Given the description of an element on the screen output the (x, y) to click on. 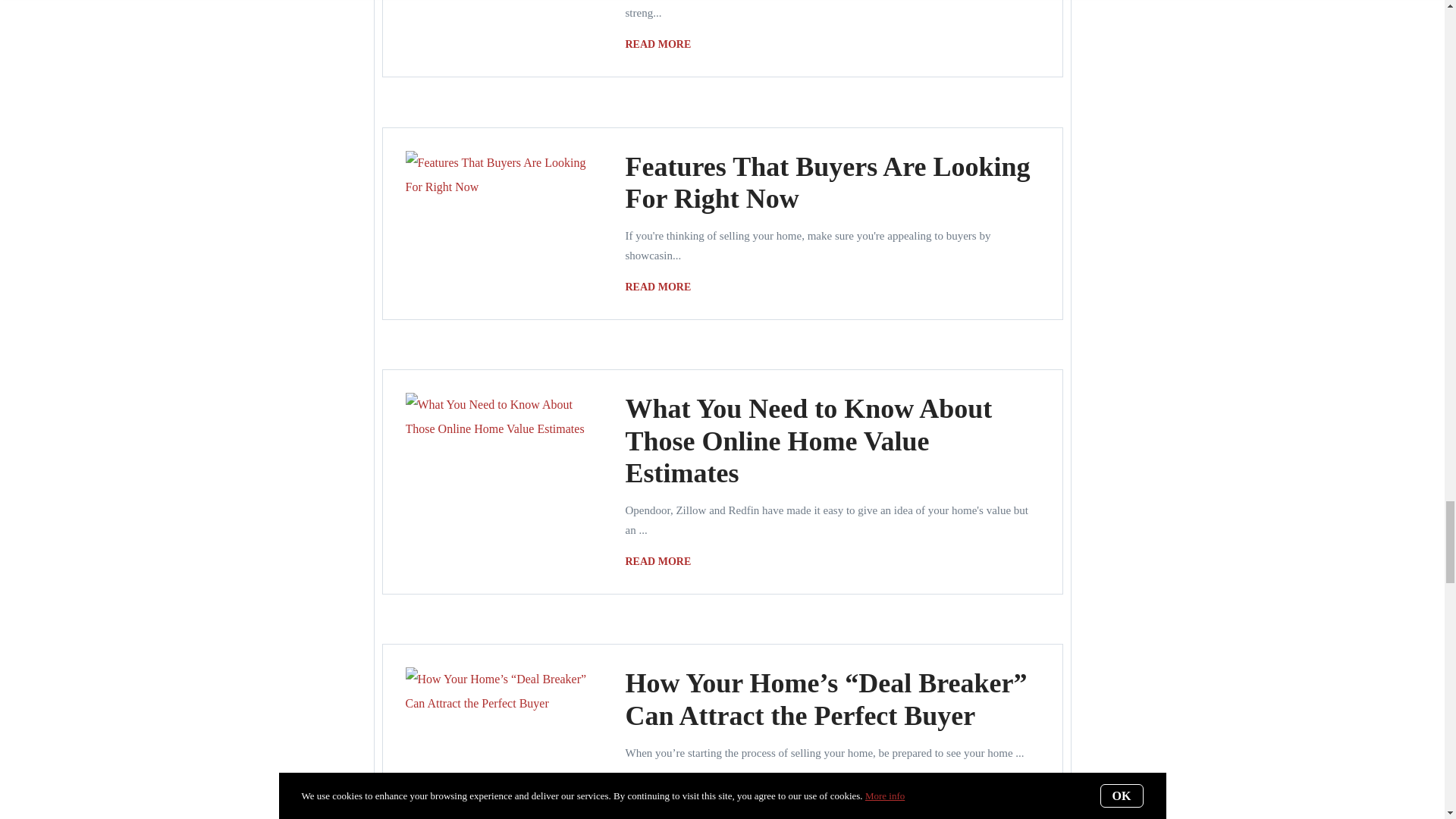
Homeownership Rate Continues to Rise in 2020 (661, 45)
Features That Buyers Are Looking For Right Now (826, 182)
Features That Buyers Are Looking For Right Now (661, 287)
READ MORE (661, 287)
READ MORE (661, 45)
Features That Buyers Are Looking For Right Now (826, 182)
